Given the description of an element on the screen output the (x, y) to click on. 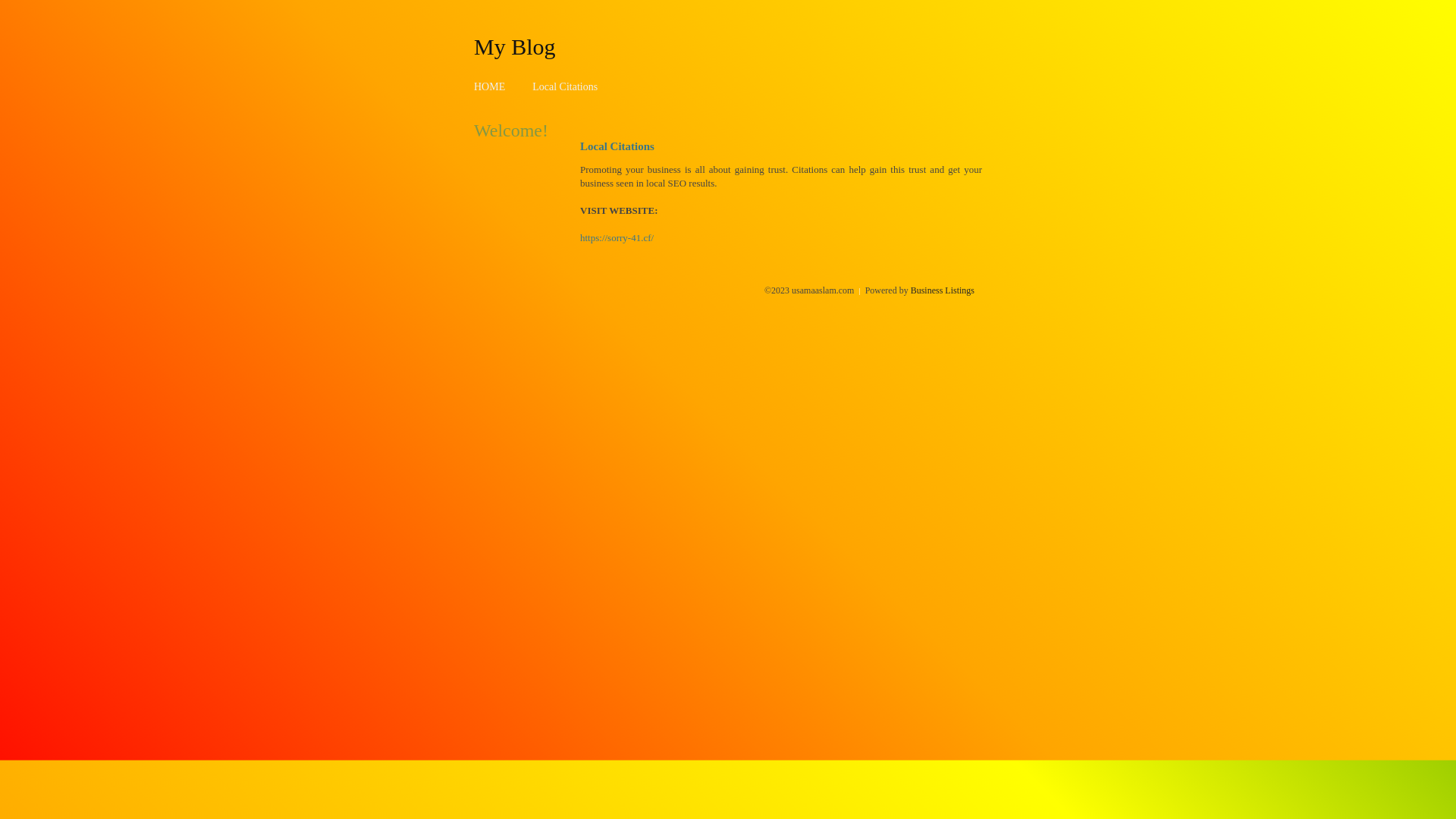
HOME Element type: text (489, 86)
https://sorry-41.cf/ Element type: text (616, 237)
Local Citations Element type: text (564, 86)
Business Listings Element type: text (942, 290)
My Blog Element type: text (514, 46)
